Given the description of an element on the screen output the (x, y) to click on. 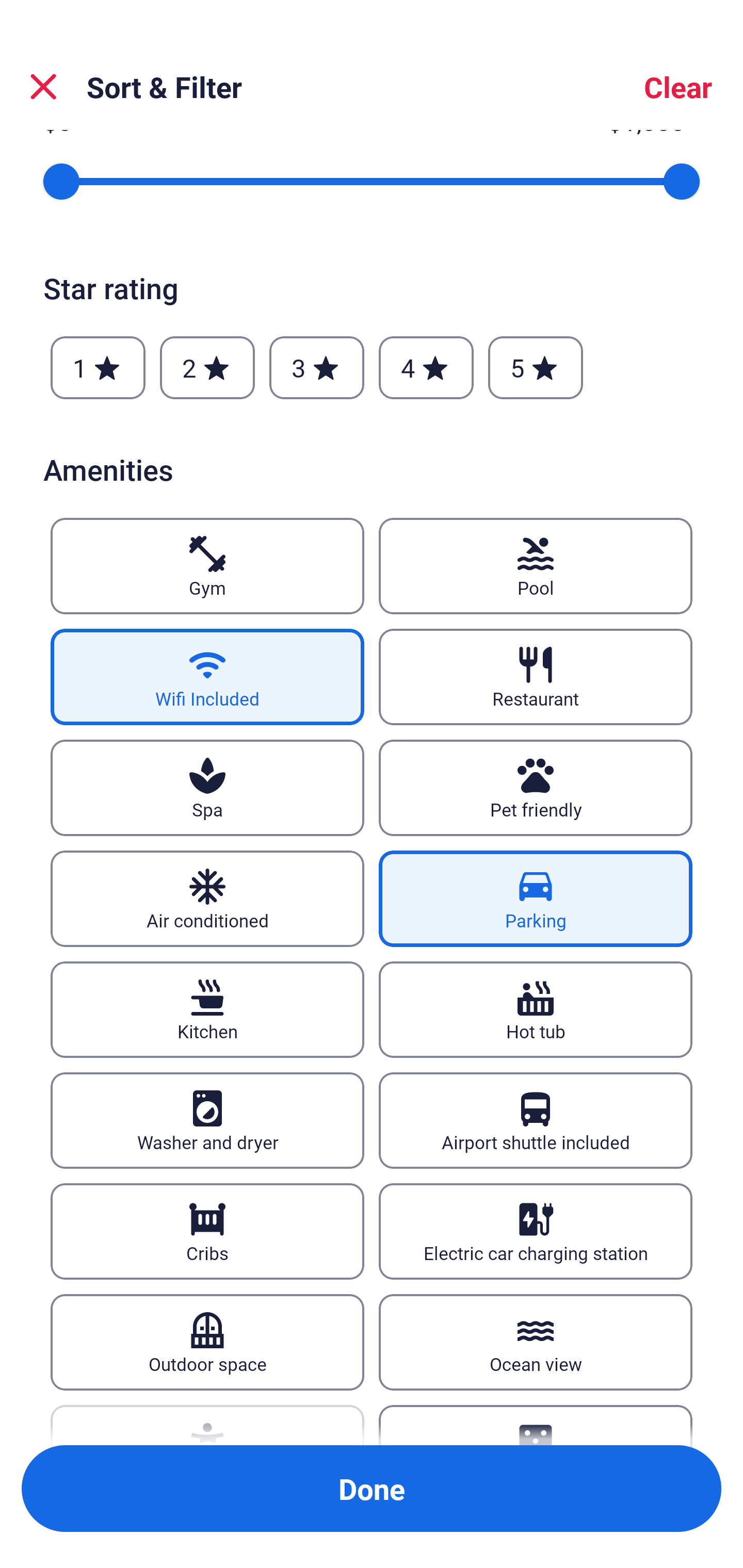
Close Sort and Filter (43, 86)
Clear (677, 86)
1 (97, 367)
2 (206, 367)
3 (316, 367)
4 (426, 367)
5 (535, 367)
Gym (207, 565)
Pool (535, 565)
Wifi Included (207, 676)
Restaurant (535, 676)
Spa (207, 787)
Pet friendly (535, 787)
Air conditioned (207, 898)
Parking (535, 898)
Kitchen (207, 1009)
Hot tub (535, 1009)
Washer and dryer (207, 1120)
Airport shuttle included (535, 1120)
Cribs (207, 1231)
Electric car charging station (535, 1231)
Outdoor space (207, 1341)
Ocean view (535, 1341)
Apply and close Sort and Filter Done (371, 1488)
